Given the description of an element on the screen output the (x, y) to click on. 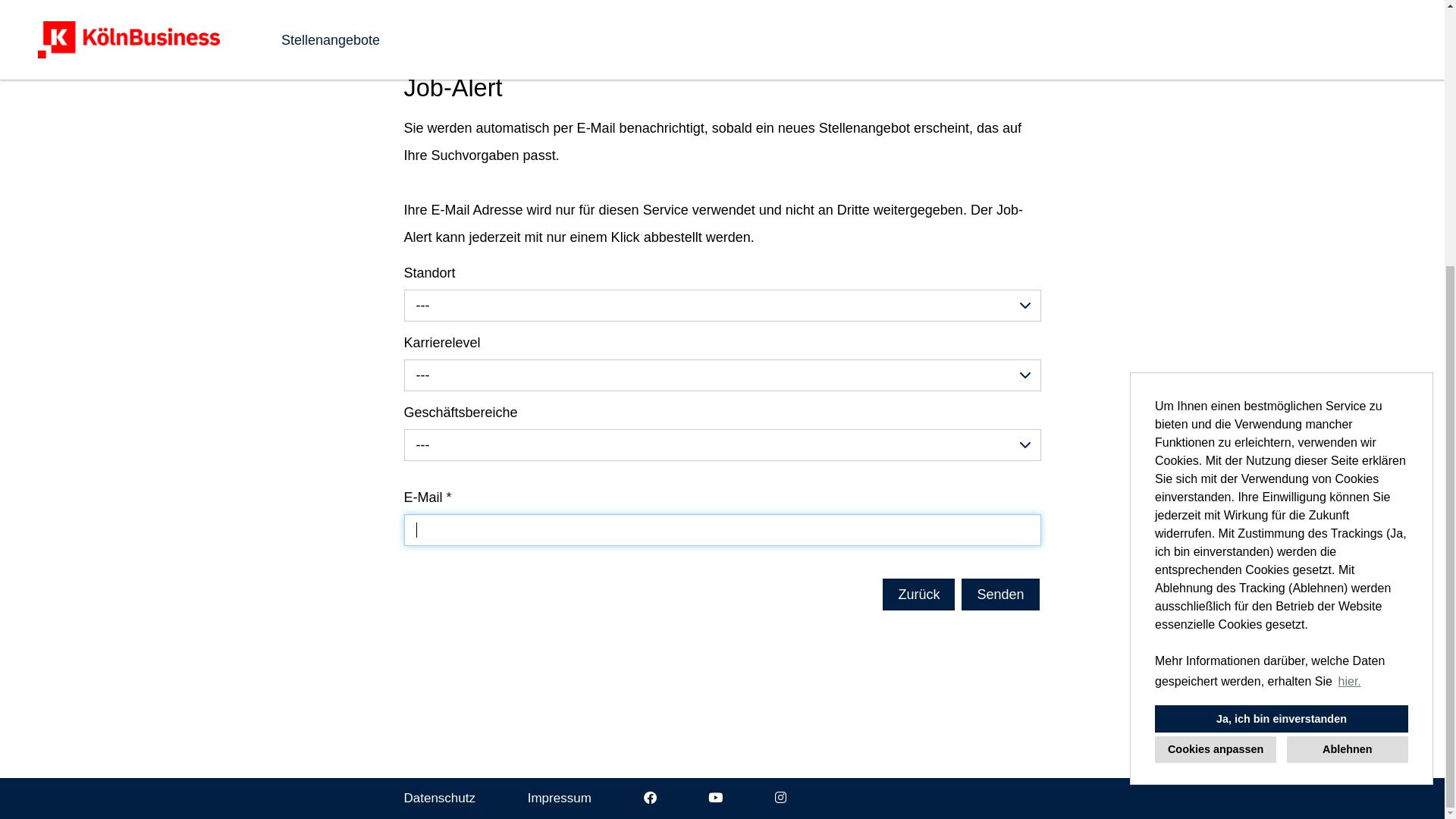
--- Element type: text (721, 761)
--- Element type: text (721, 691)
Stellenangebote Element type: text (330, 425)
